Given the description of an element on the screen output the (x, y) to click on. 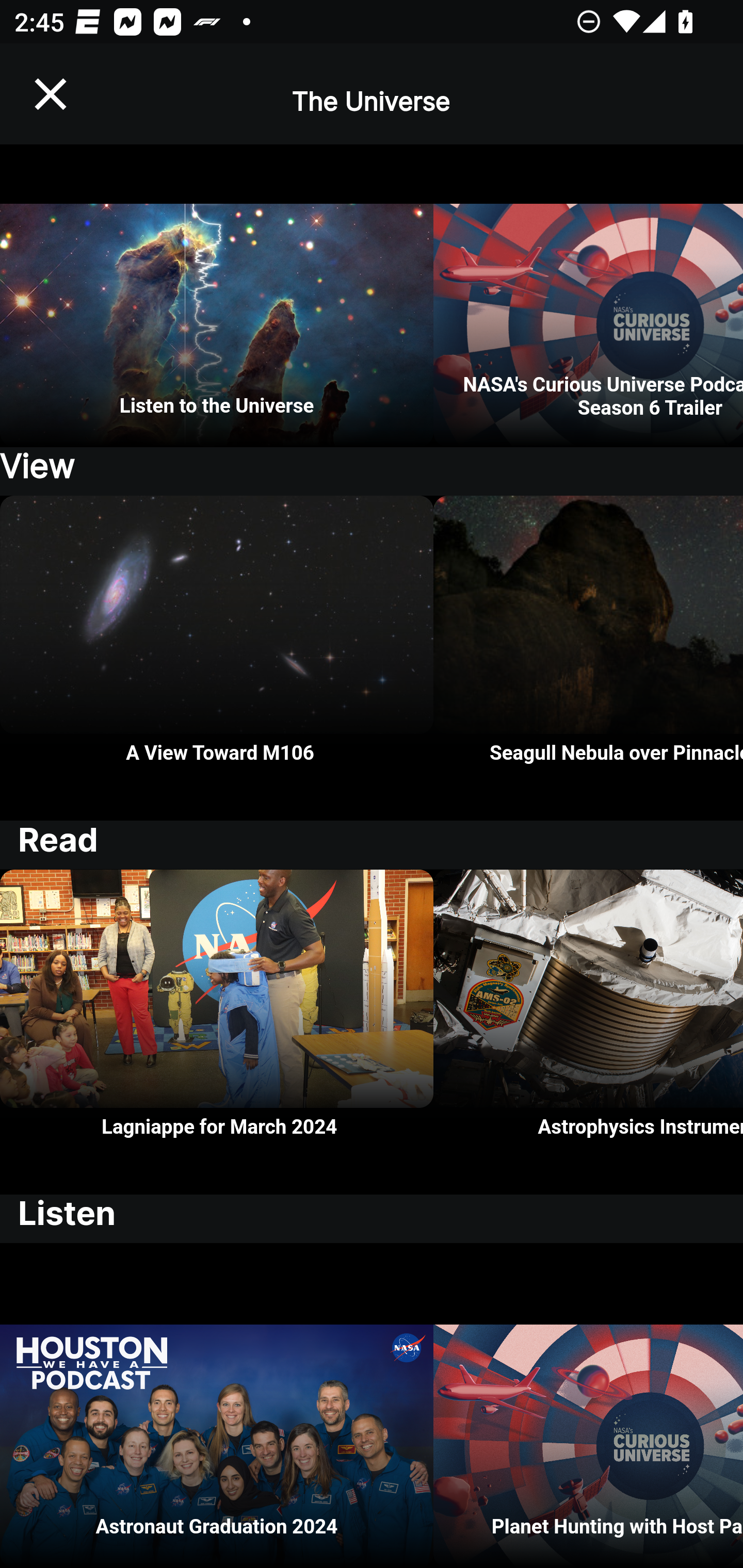
Listen to the Universe (216, 295)
A View Toward M106 (216, 657)
Seagull Nebula over Pinnacles' Peak (588, 657)
Lagniappe for March 2024 (216, 1032)
Astrophysics Instruments (588, 1032)
Astronaut Graduation 2024 (216, 1405)
Planet Hunting with Host Padi Boyd (588, 1405)
